Given the description of an element on the screen output the (x, y) to click on. 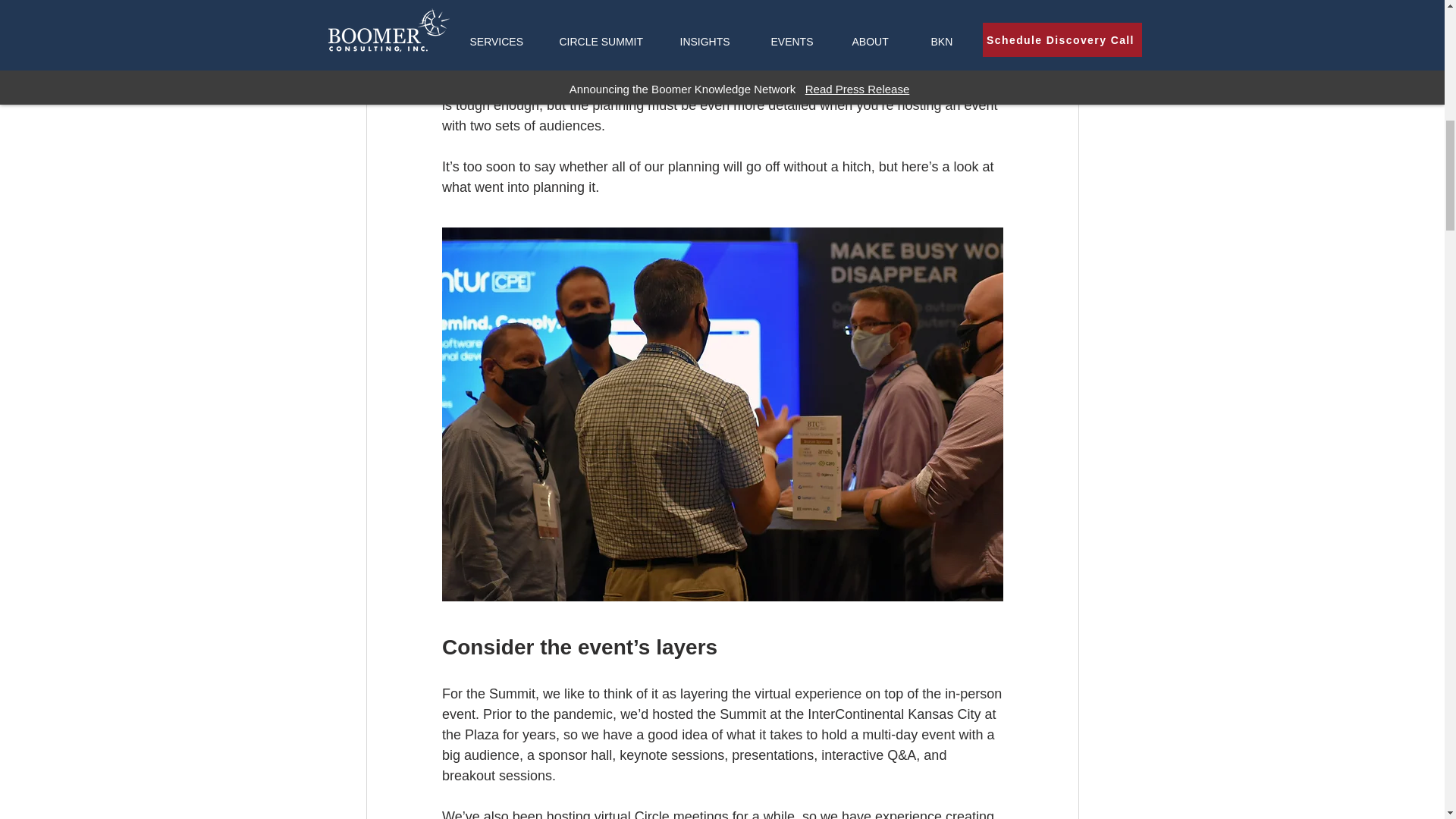
Boomer Technology Circles Summit (723, 23)
